Given the description of an element on the screen output the (x, y) to click on. 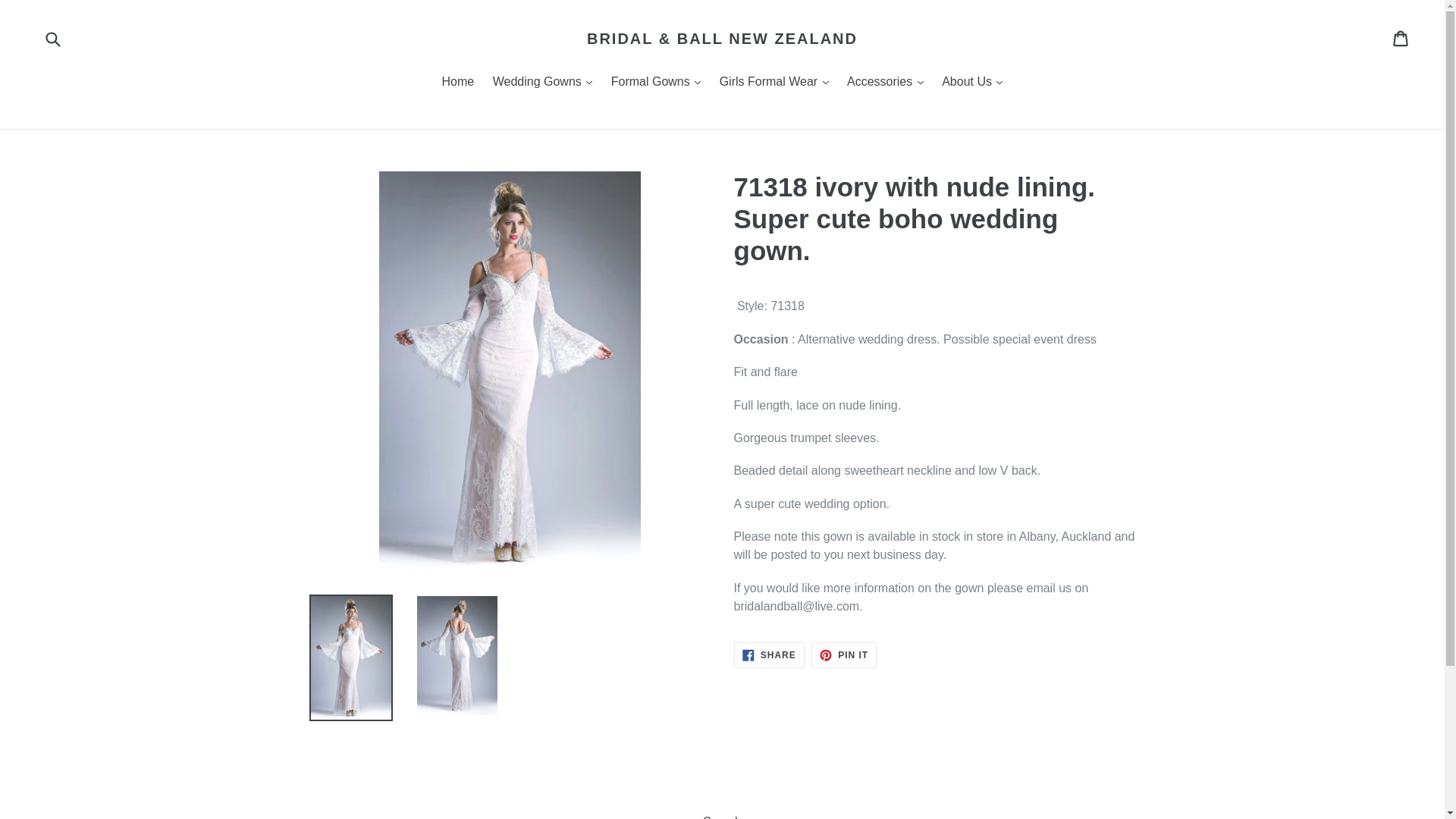
Submit (52, 38)
Pin on Pinterest (843, 655)
Share on Facebook (769, 655)
